Given the description of an element on the screen output the (x, y) to click on. 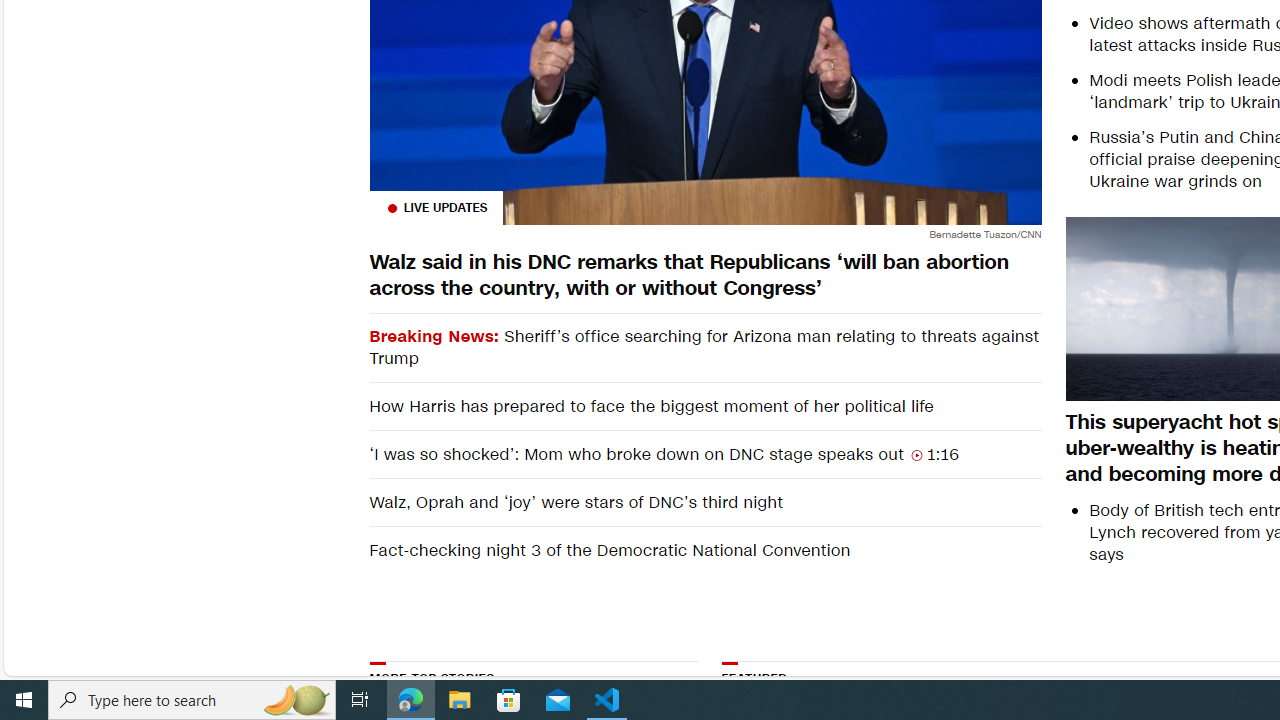
Search highlights icon opens search home window (295, 699)
